Given the description of an element on the screen output the (x, y) to click on. 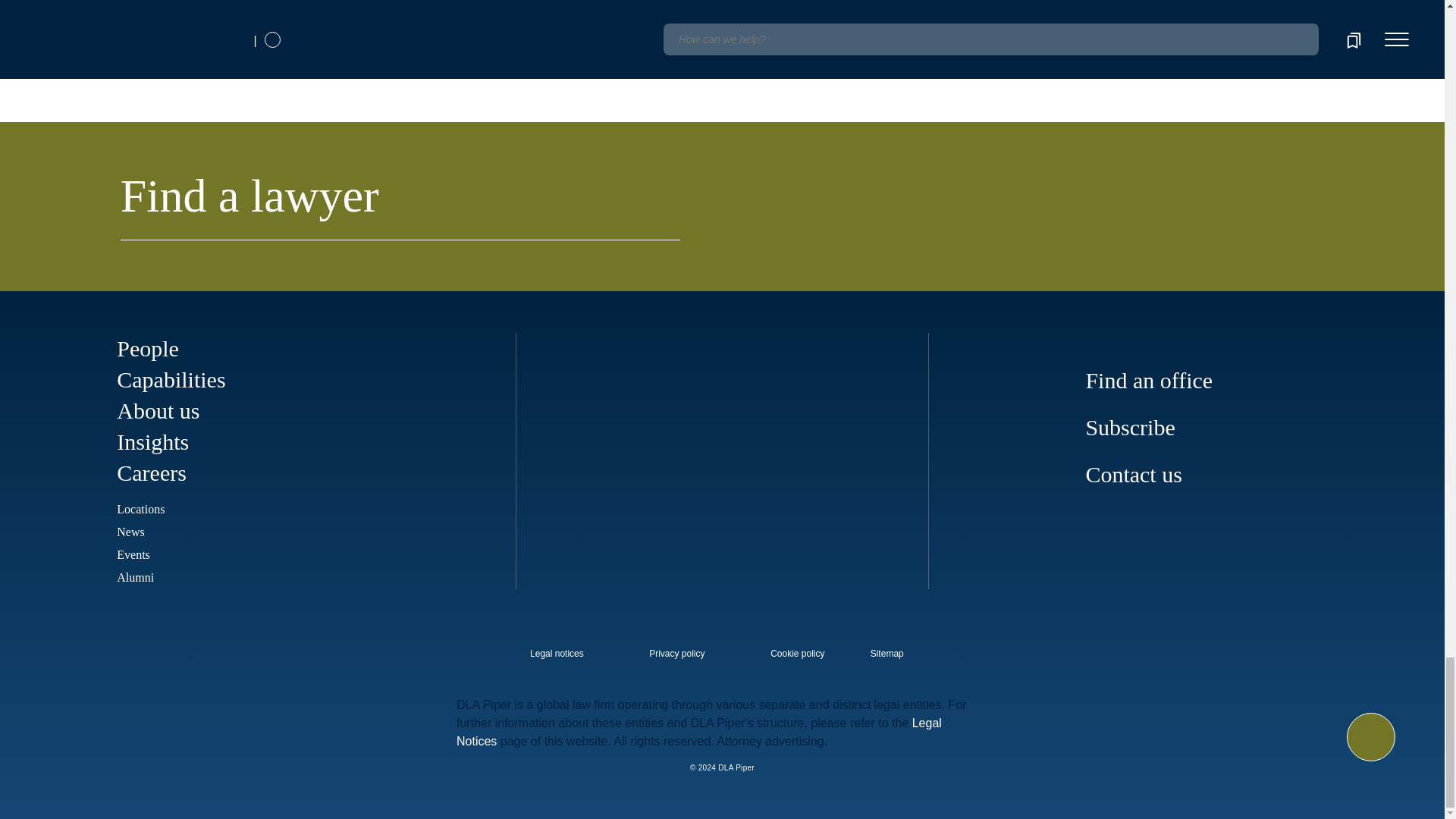
internal (676, 653)
external (897, 649)
internal (798, 653)
internal (557, 653)
